Given the description of an element on the screen output the (x, y) to click on. 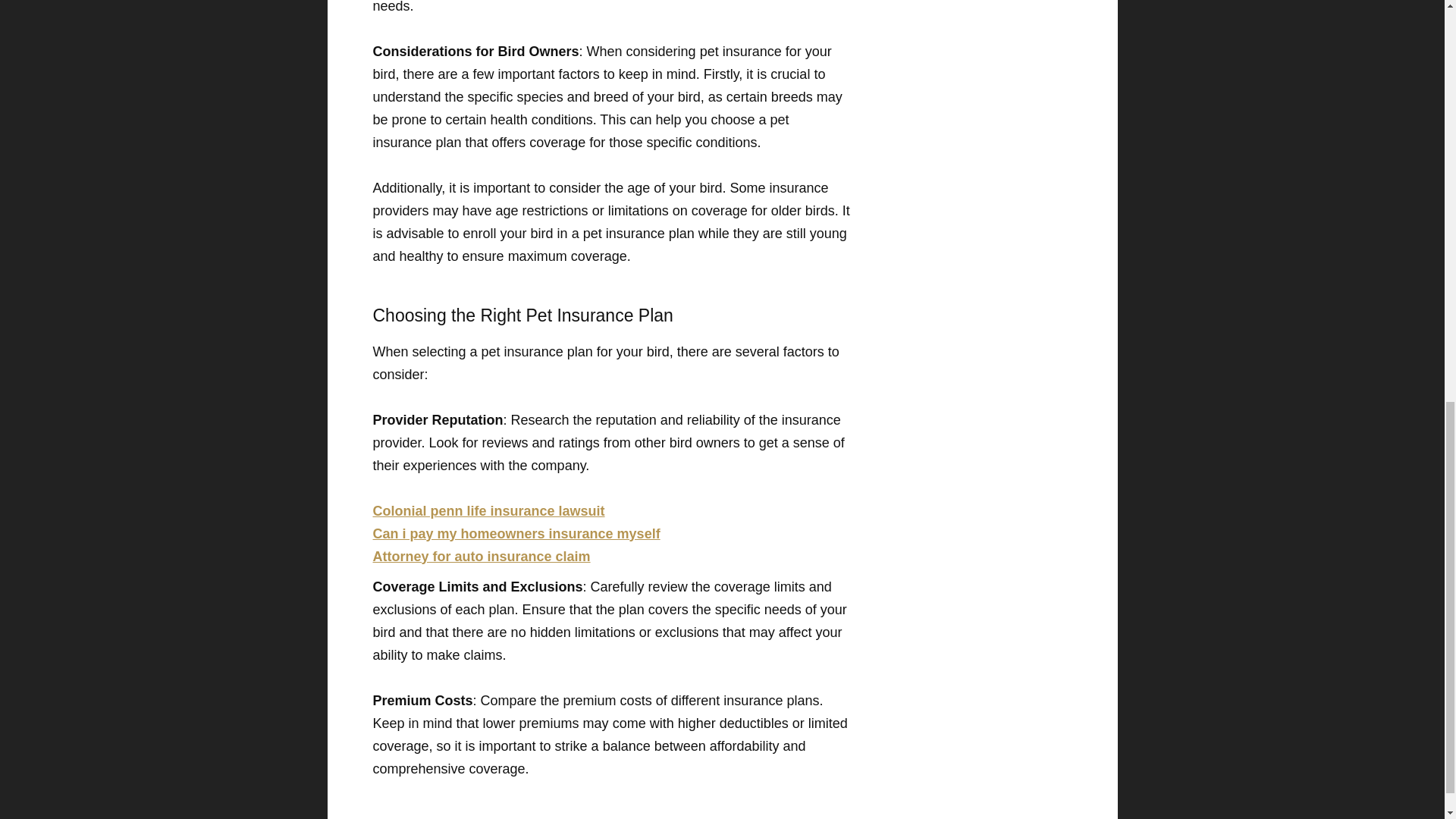
Can i pay my homeowners insurance myself (516, 533)
Choosing the Right Pet Insurance Plan (611, 315)
Colonial penn life insurance lawsuit (488, 510)
Attorney for auto insurance claim (481, 556)
